Given the description of an element on the screen output the (x, y) to click on. 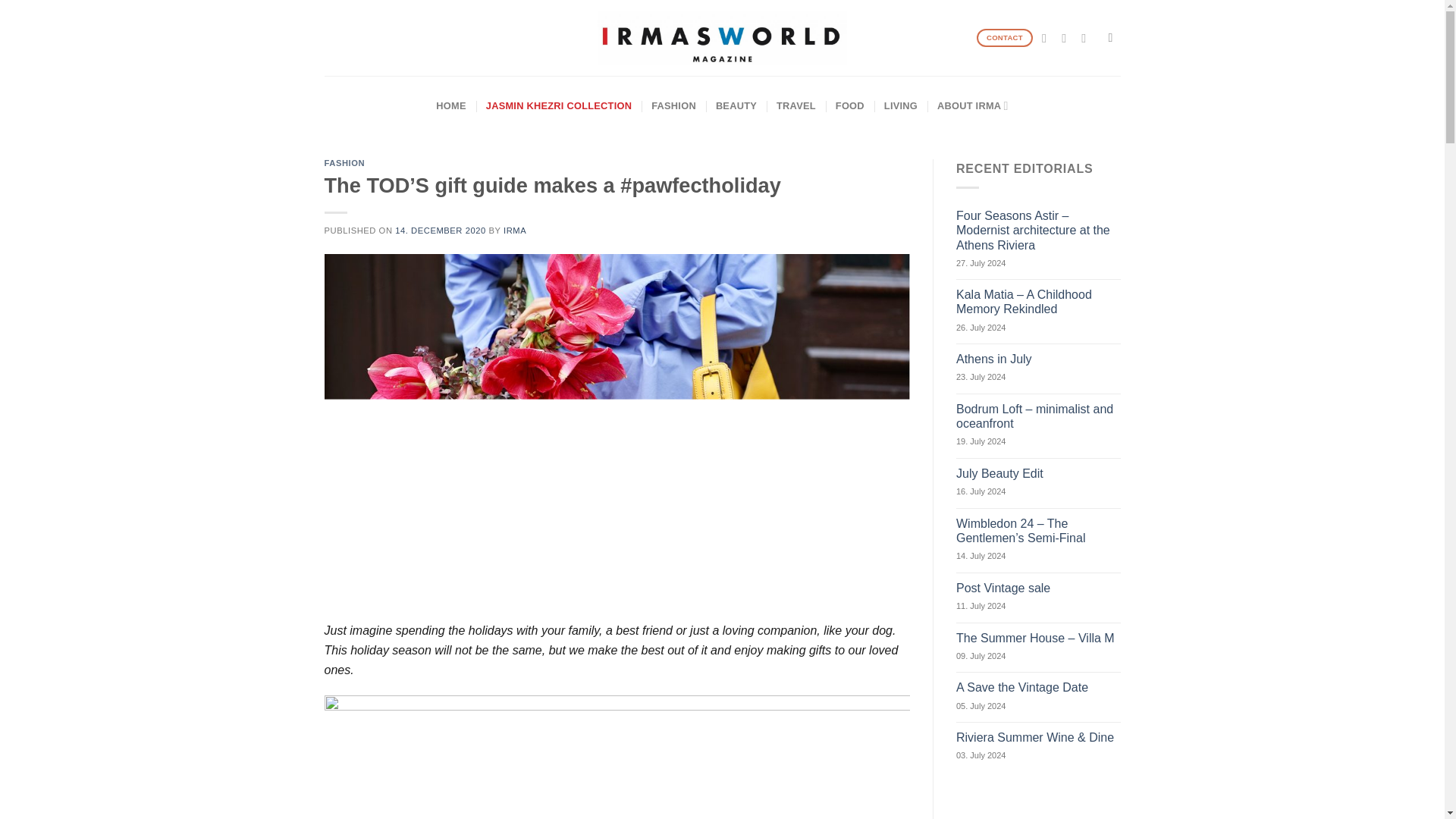
LIVING (900, 106)
CONTACT (1004, 37)
Follow on Instagram (1067, 38)
Irmas World - by Jasmin Khezri (721, 37)
IRMA (514, 230)
BEAUTY (736, 106)
Post Vintage sale (1038, 587)
JASMIN KHEZRI COLLECTION (558, 106)
A Save the Vintage Date (1038, 687)
July Beauty Edit (1038, 473)
FASHION (672, 106)
HOME (450, 106)
TRAVEL (795, 106)
Athens in July (1038, 359)
ABOUT IRMA (973, 106)
